Given the description of an element on the screen output the (x, y) to click on. 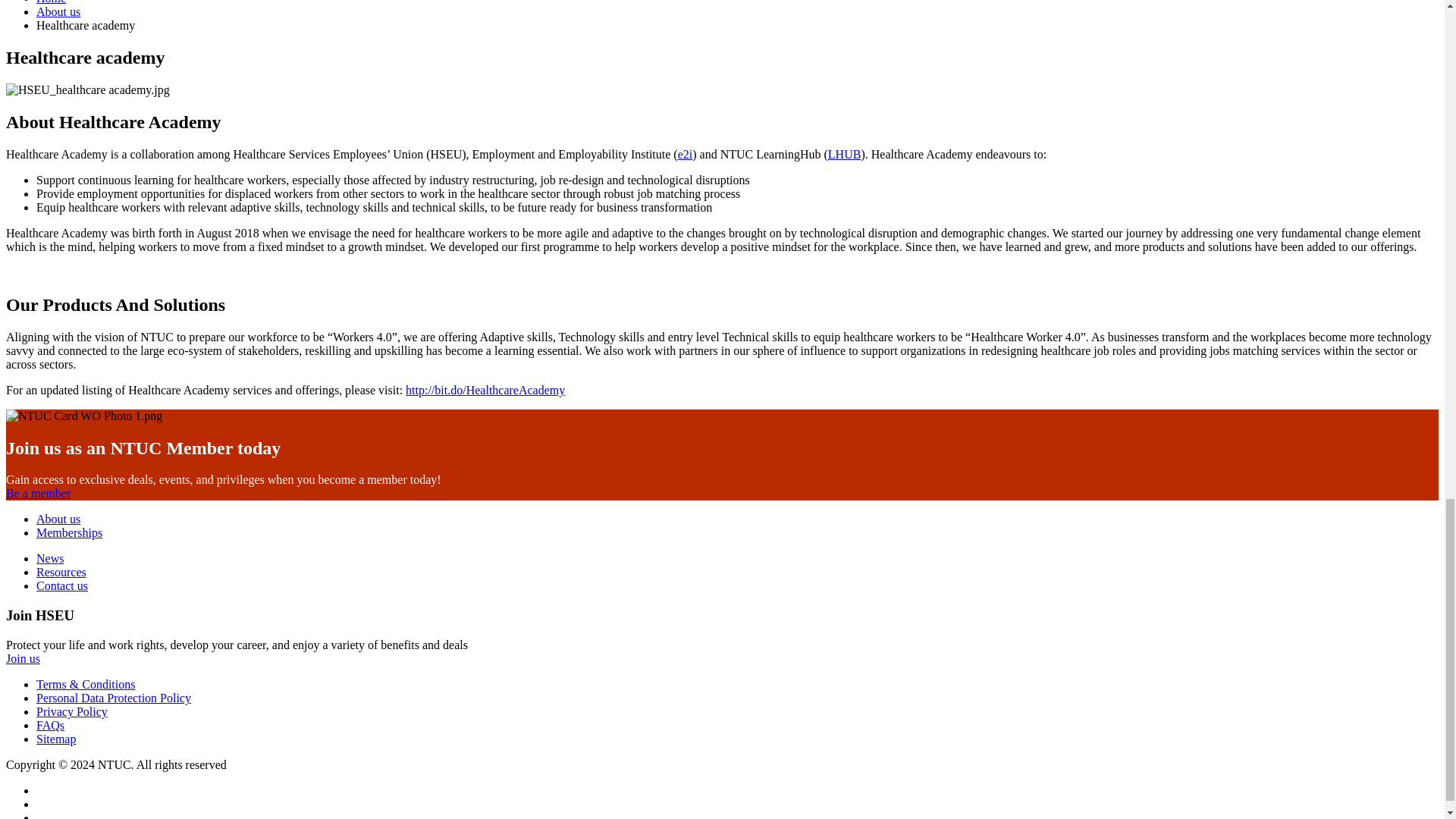
LHUB (844, 154)
News (50, 558)
Privacy Policy (71, 711)
Be a member (37, 492)
e2i (685, 154)
Resources (60, 571)
Healthcare academy (485, 390)
Memberships (68, 532)
Contact us (61, 585)
Personal Data Protection Policy (113, 697)
